Given the description of an element on the screen output the (x, y) to click on. 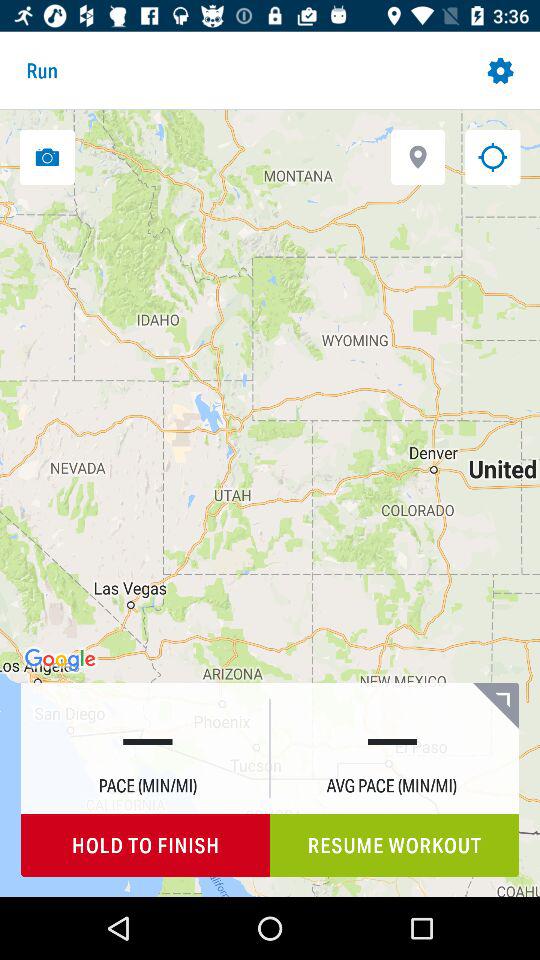
take photo of map (47, 156)
